Given the description of an element on the screen output the (x, y) to click on. 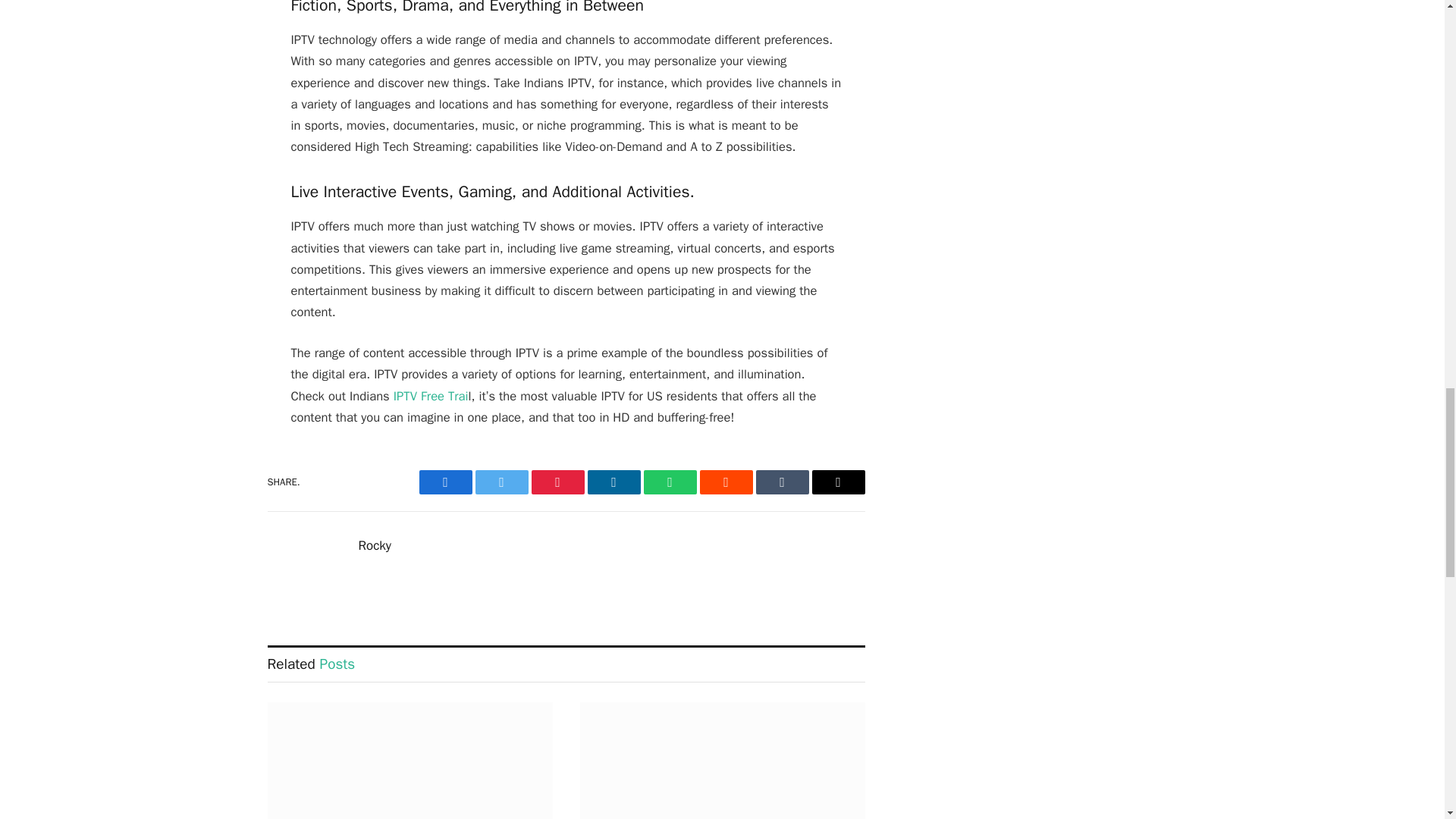
Email (837, 482)
Twitter (500, 482)
WhatsApp (669, 482)
IPTV Free Trai (430, 396)
Share on Facebook (445, 482)
Share on WhatsApp (669, 482)
Facebook (445, 482)
Share on LinkedIn (613, 482)
Pinterest (557, 482)
LinkedIn (613, 482)
Rocky (374, 545)
Reddit (725, 482)
Share on Pinterest (557, 482)
Tumblr (781, 482)
